Given the description of an element on the screen output the (x, y) to click on. 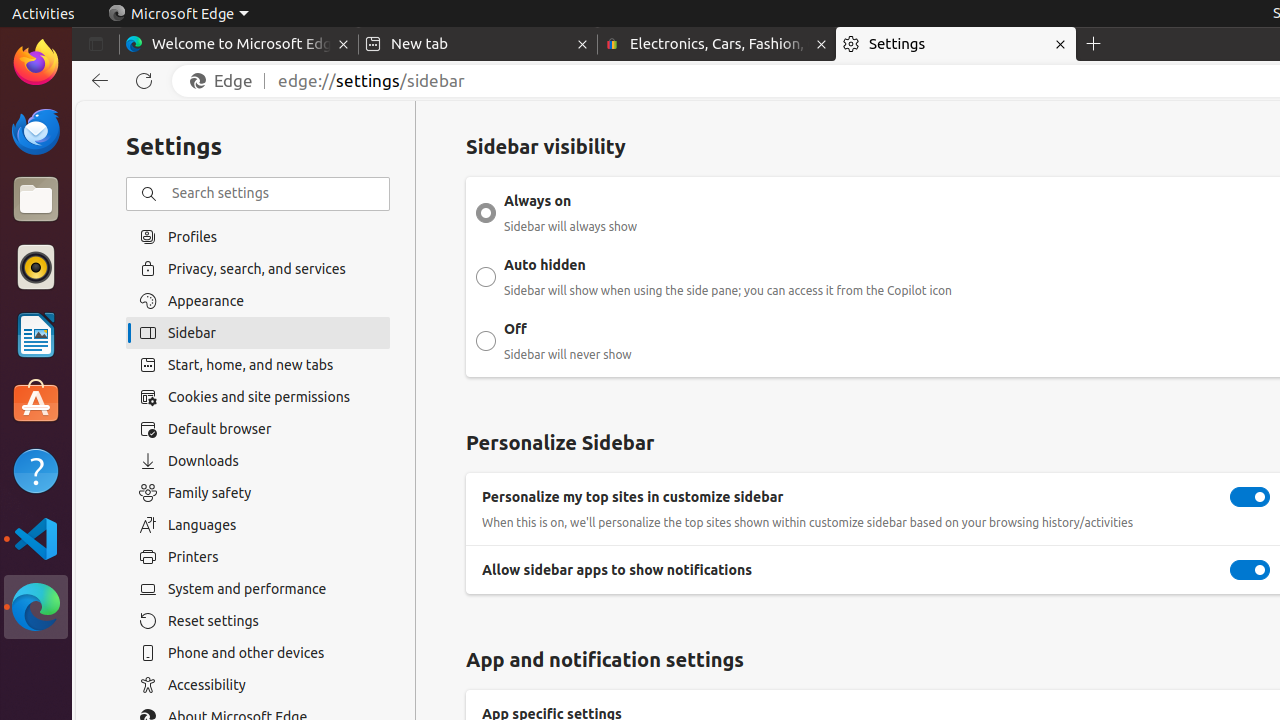
Phone and other devices Element type: tree-item (258, 653)
New Tab Element type: push-button (1094, 44)
Files Element type: push-button (36, 199)
Allow sidebar apps to show notifications Element type: check-box (1250, 570)
